Given the description of an element on the screen output the (x, y) to click on. 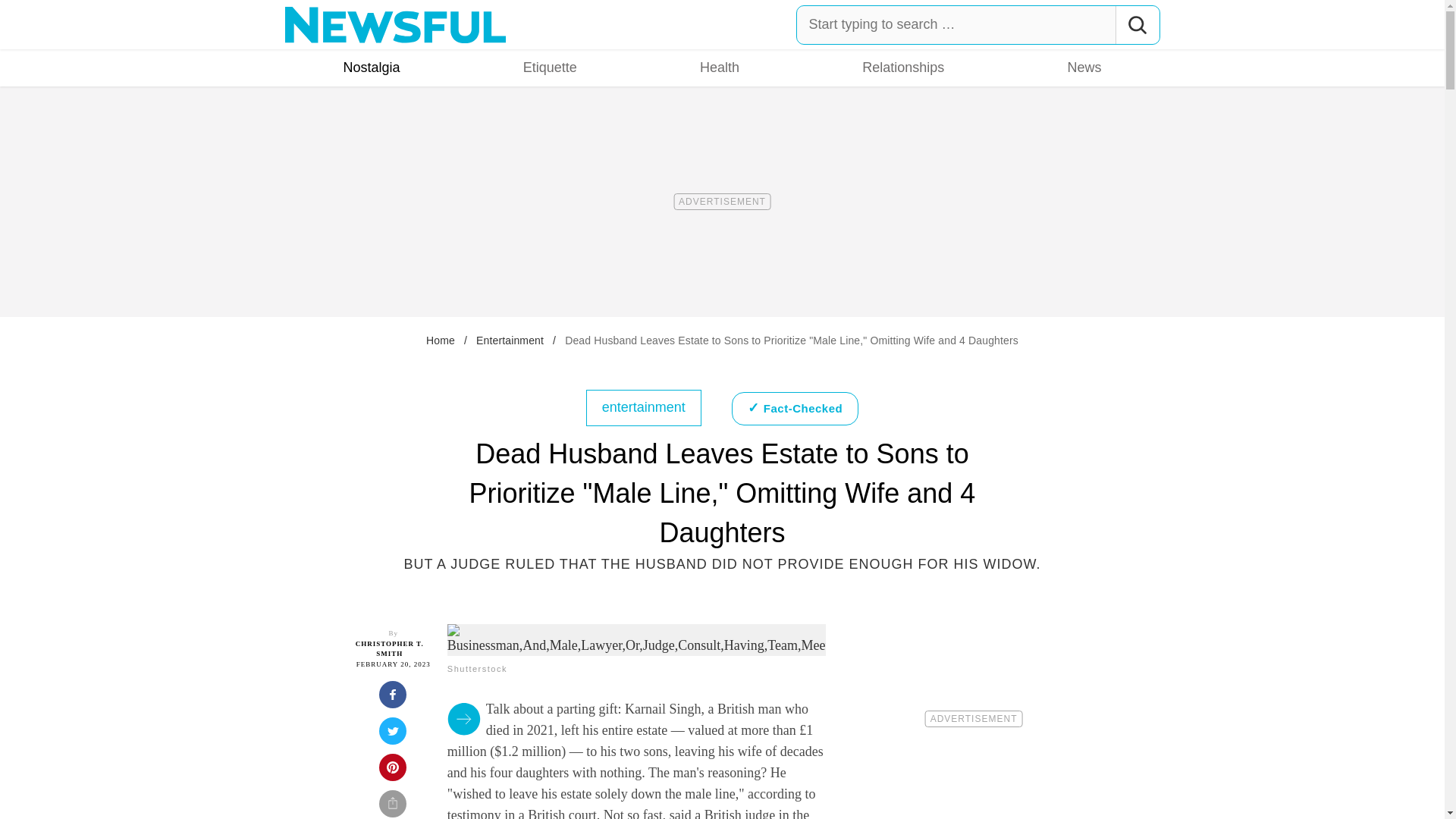
CHRISTOPHER T. SMITH (389, 648)
entertainment (643, 406)
News (1083, 66)
Etiquette (549, 66)
Type and press Enter to search (978, 24)
Health (719, 66)
Entertainment (509, 340)
Home (440, 340)
Relationships (903, 66)
Newsful Homepage (395, 23)
Nostalgia (371, 66)
